Given the description of an element on the screen output the (x, y) to click on. 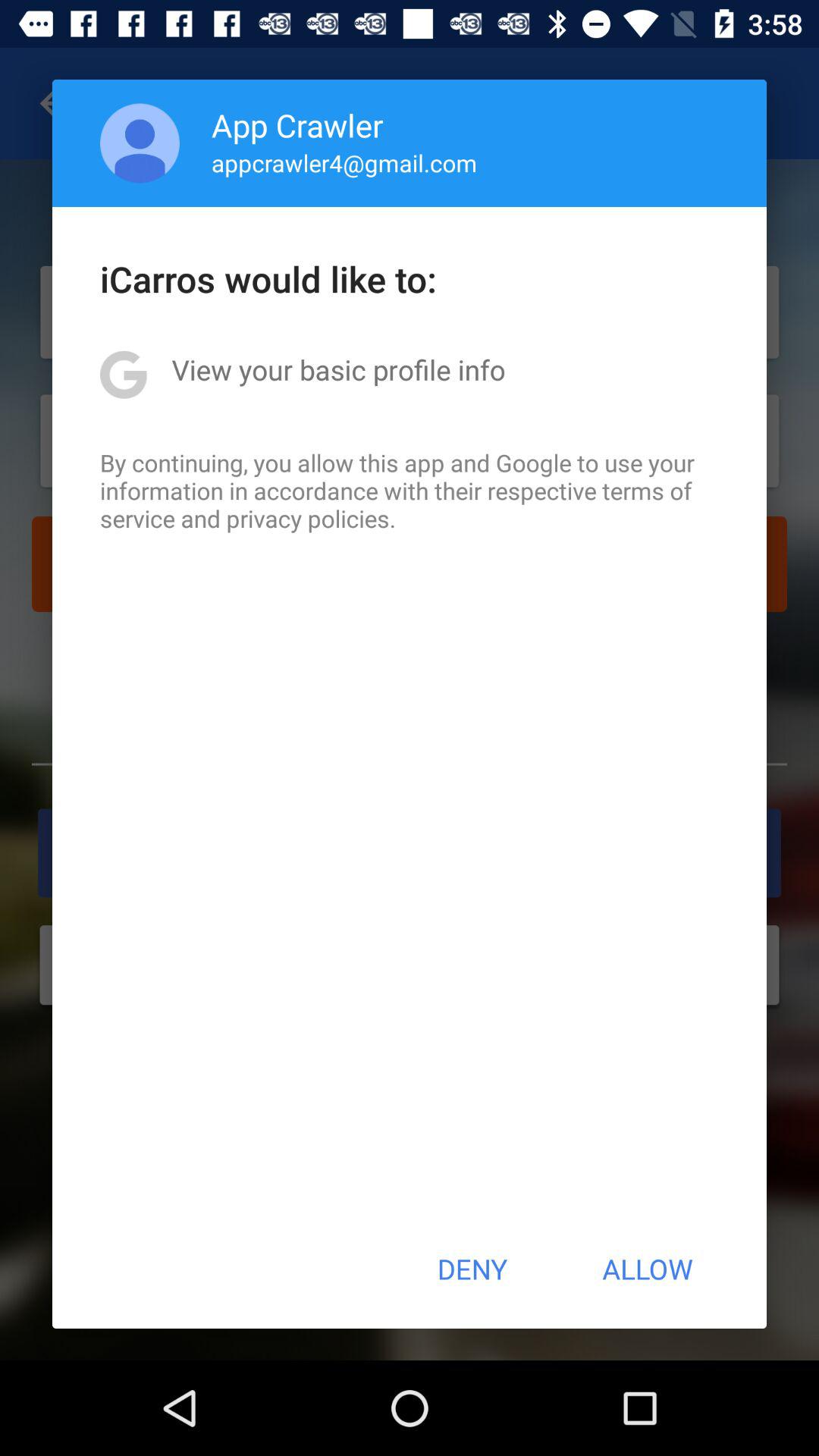
launch the appcrawler4@gmail.com icon (344, 162)
